Given the description of an element on the screen output the (x, y) to click on. 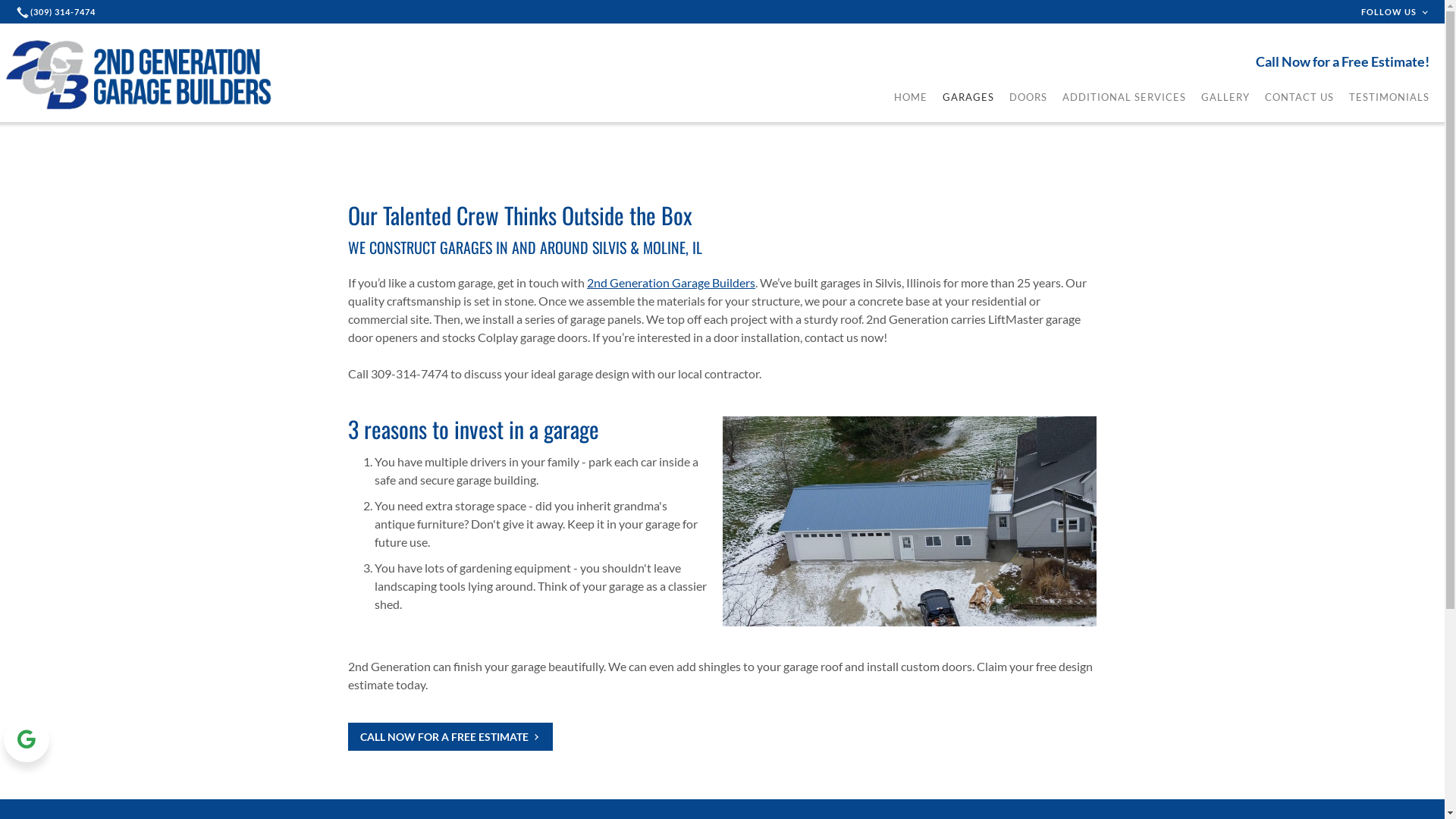
2nd Generation Garage Builders Element type: text (670, 282)
GARAGES Element type: text (968, 96)
DOORS Element type: text (1028, 96)
3 reasons to invest in a garage Element type: text (473, 428)
Call Now for a Free Estimate! Element type: text (1349, 61)
TESTIMONIALS Element type: text (1389, 96)
CALL NOW FOR A FREE ESTIMATE Element type: text (450, 735)
CONTACT US Element type: text (1298, 96)
GALLERY Element type: text (1225, 96)
(309) 314-7474 Element type: hover (57, 11)
HOME Element type: text (910, 96)
ADDITIONAL SERVICES Element type: text (1124, 96)
